Given the description of an element on the screen output the (x, y) to click on. 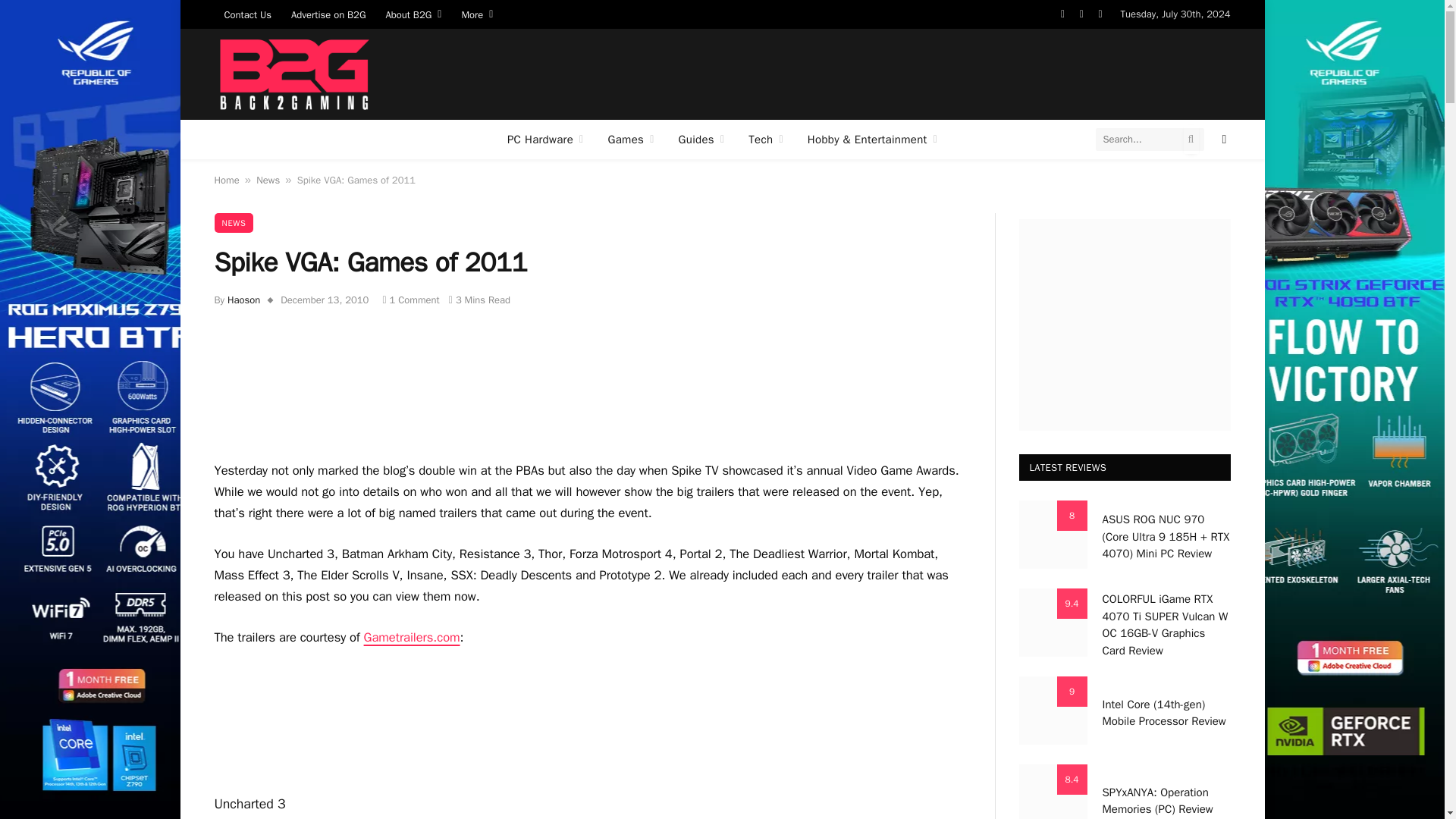
About B2G (413, 14)
Advertise on B2G (328, 14)
More (476, 14)
PC Hardware (545, 138)
Back2Gaming (292, 73)
Contact Us (247, 14)
